Given the description of an element on the screen output the (x, y) to click on. 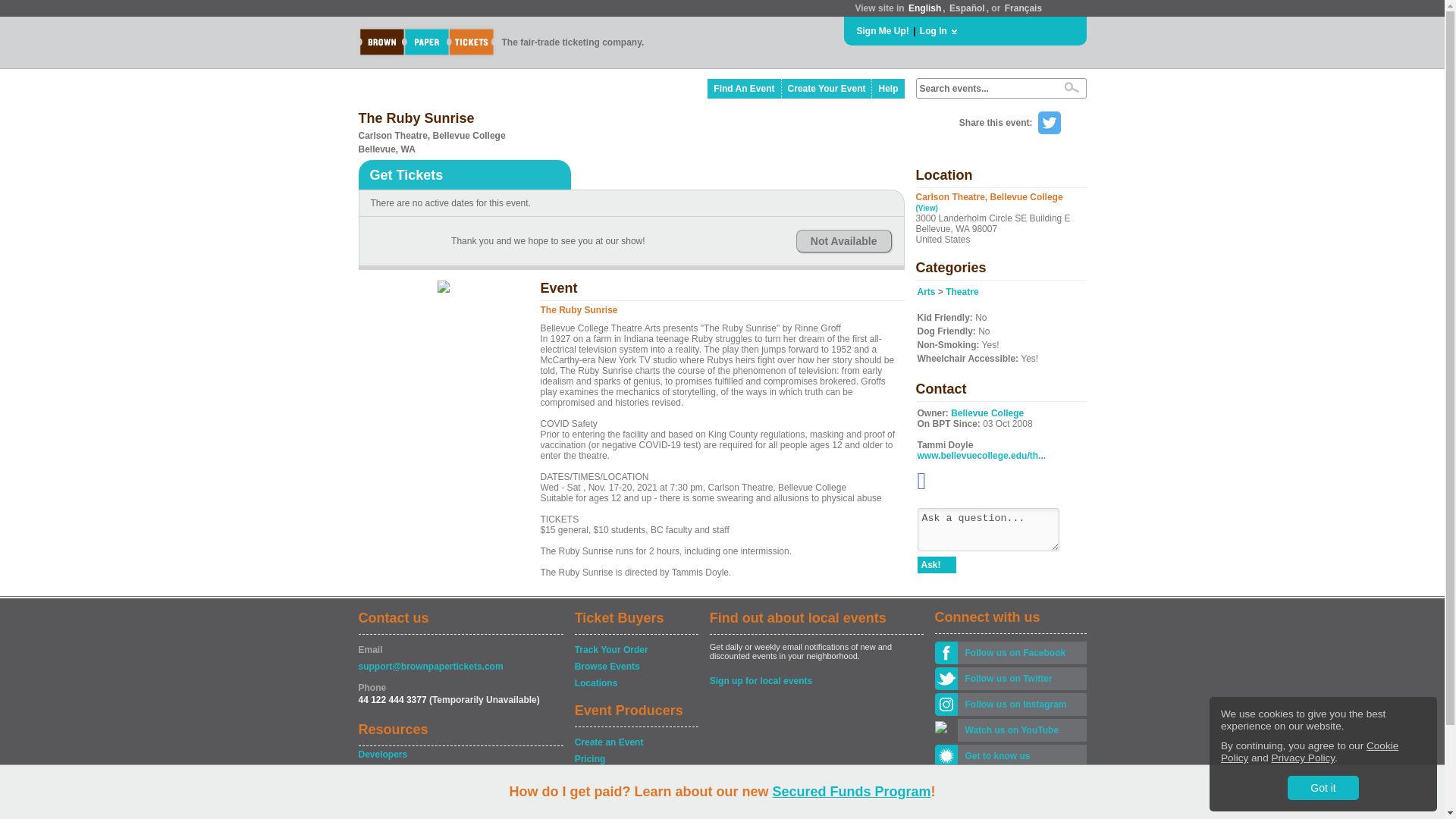
Log In (933, 30)
Pricing (636, 758)
Got it (1322, 787)
Help (460, 770)
Buy Pre-Printed Tickets (636, 792)
Locations (636, 683)
Create Your Event (826, 88)
Find An Event (743, 88)
Sign up for local events (816, 680)
Ask! (936, 564)
